Given the description of an element on the screen output the (x, y) to click on. 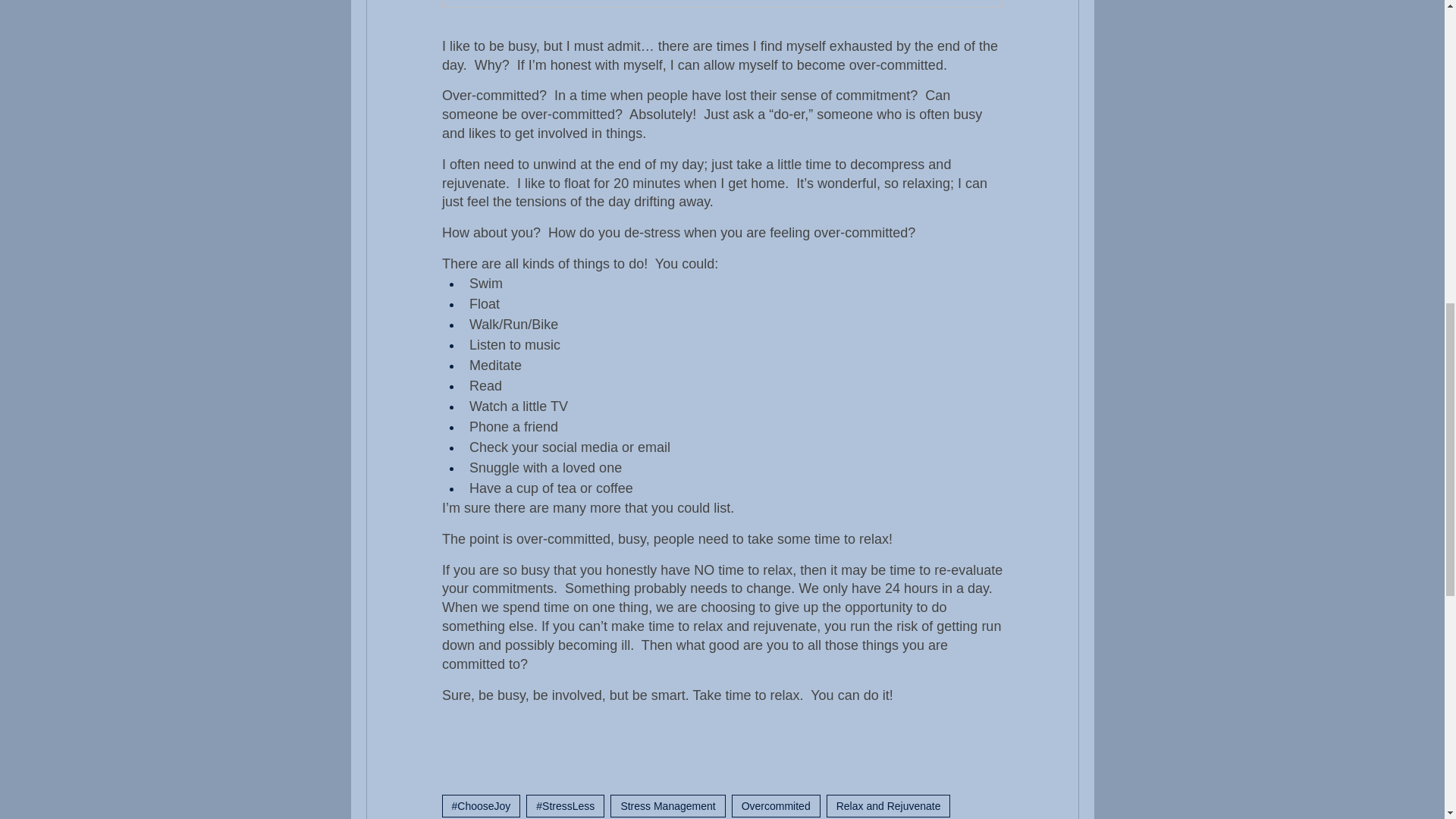
Relax and Rejuvenate (888, 805)
Stress Management (667, 805)
Overcommited (776, 805)
